Given the description of an element on the screen output the (x, y) to click on. 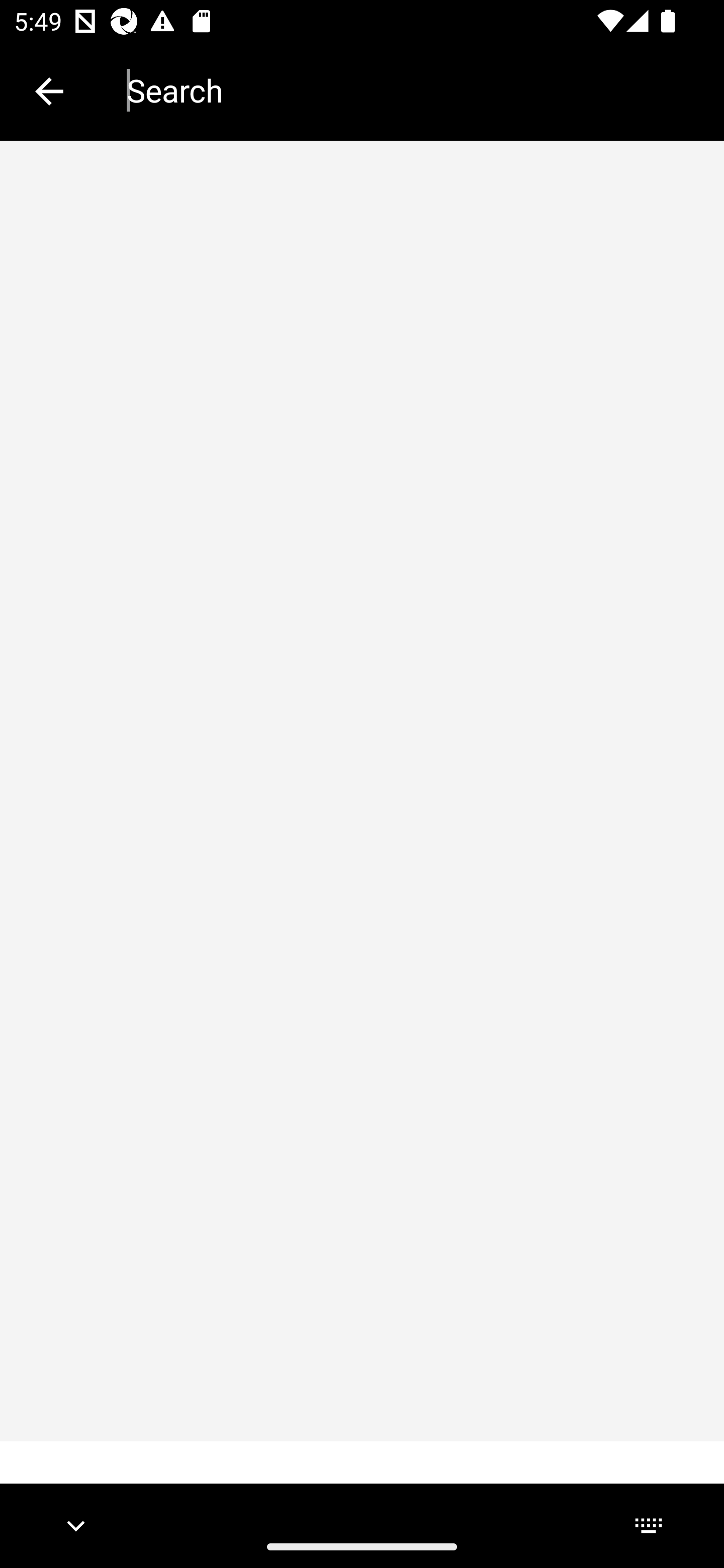
Collapse (49, 91)
Search (411, 90)
